Given the description of an element on the screen output the (x, y) to click on. 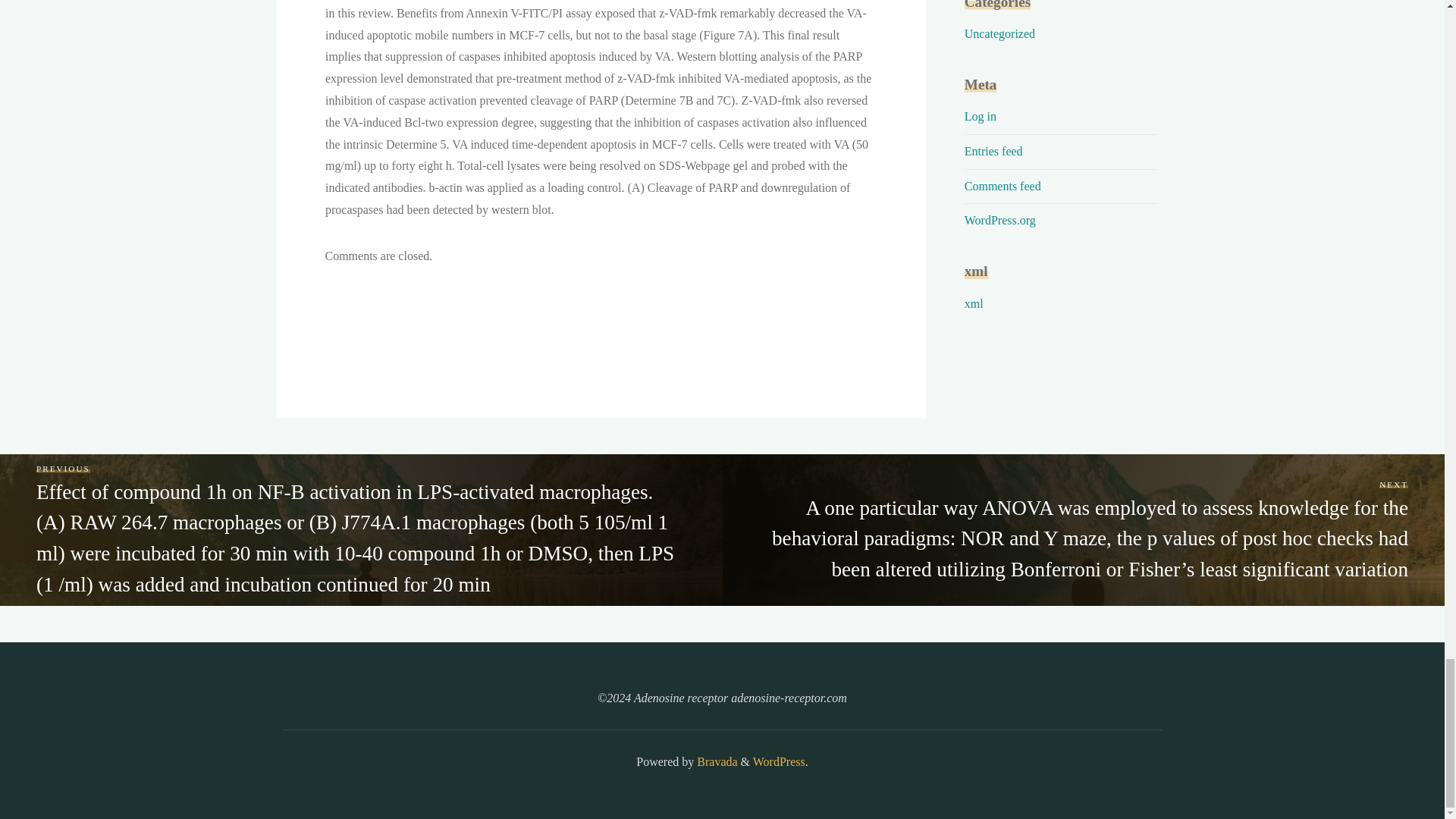
Semantic Personal Publishing Platform (778, 761)
Bravada WordPress Theme by Cryout Creations (715, 761)
